Given the description of an element on the screen output the (x, y) to click on. 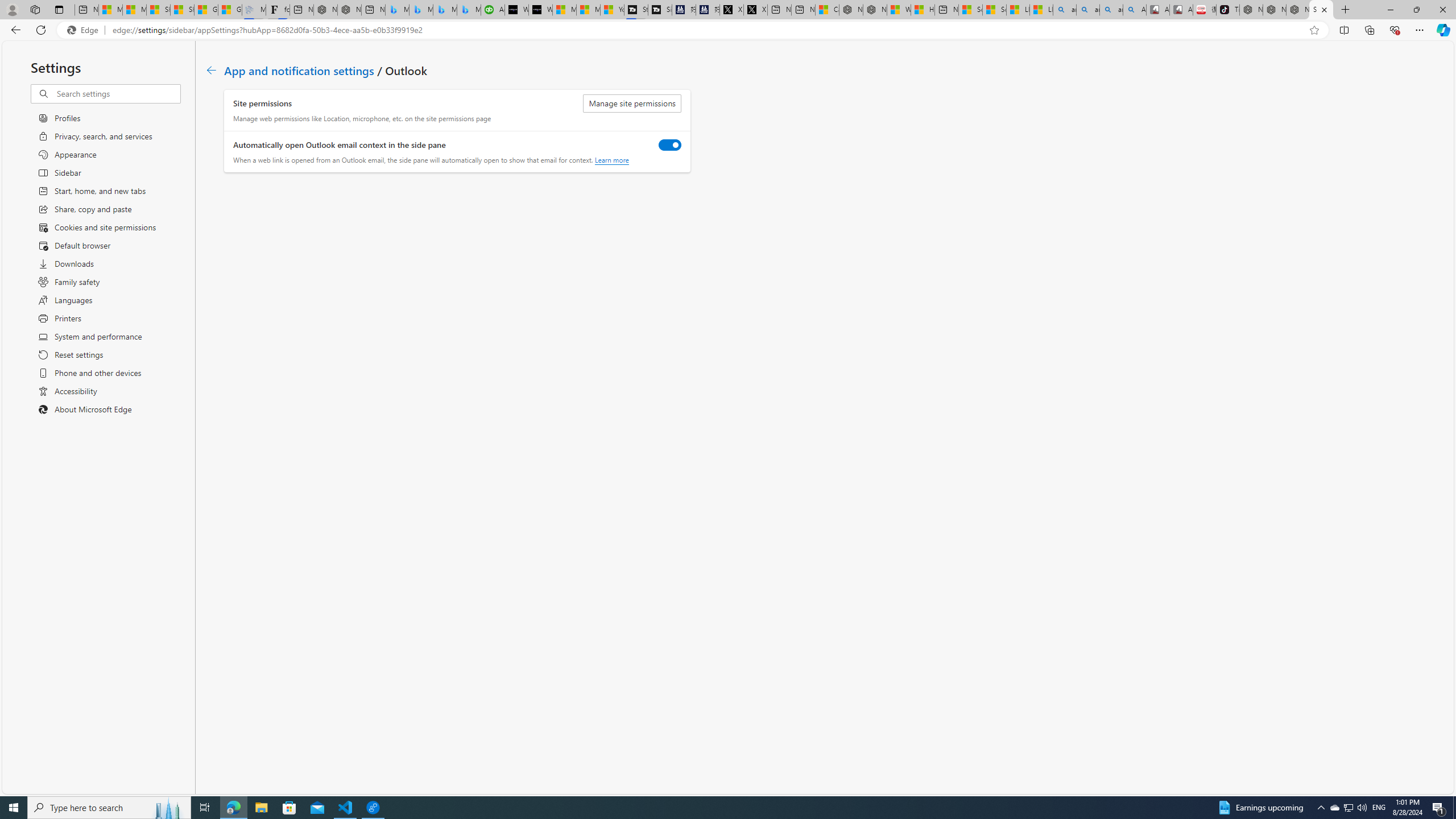
Automatically open Outlook email context in the side pane (669, 144)
Amazon Echo Robot - Search Images (1134, 9)
Outlook (1442, 98)
Gilma and Hector both pose tropical trouble for Hawaii (229, 9)
Nordace - Siena Pro 15 Essential Set (1297, 9)
Learn more (611, 159)
TikTok (1227, 9)
All Cubot phones (1181, 9)
